Given the description of an element on the screen output the (x, y) to click on. 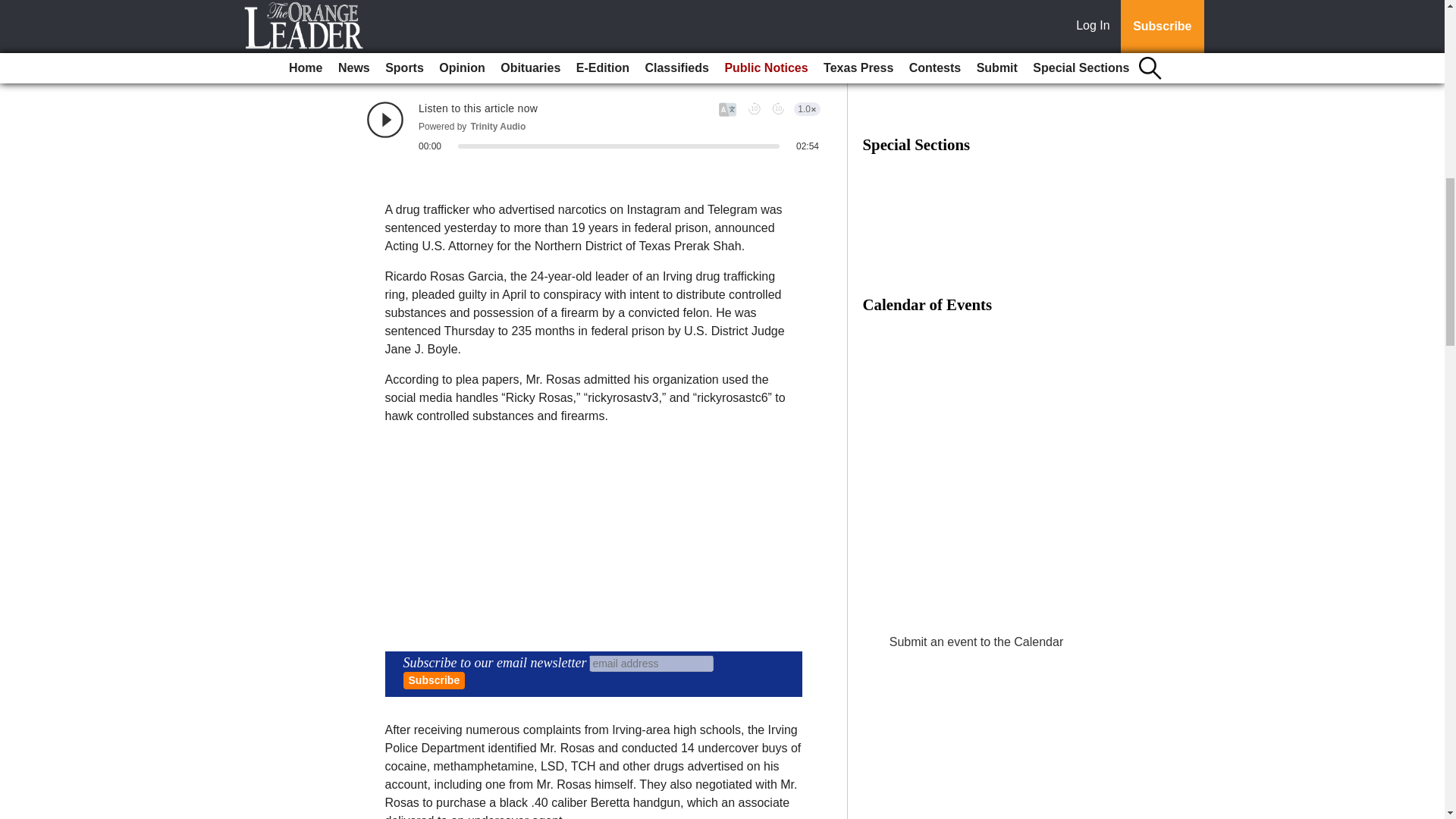
Subscribe (434, 680)
Submit an event to the Calendar (975, 641)
Trinity Audio Player (592, 126)
Subscribe (434, 680)
